Given the description of an element on the screen output the (x, y) to click on. 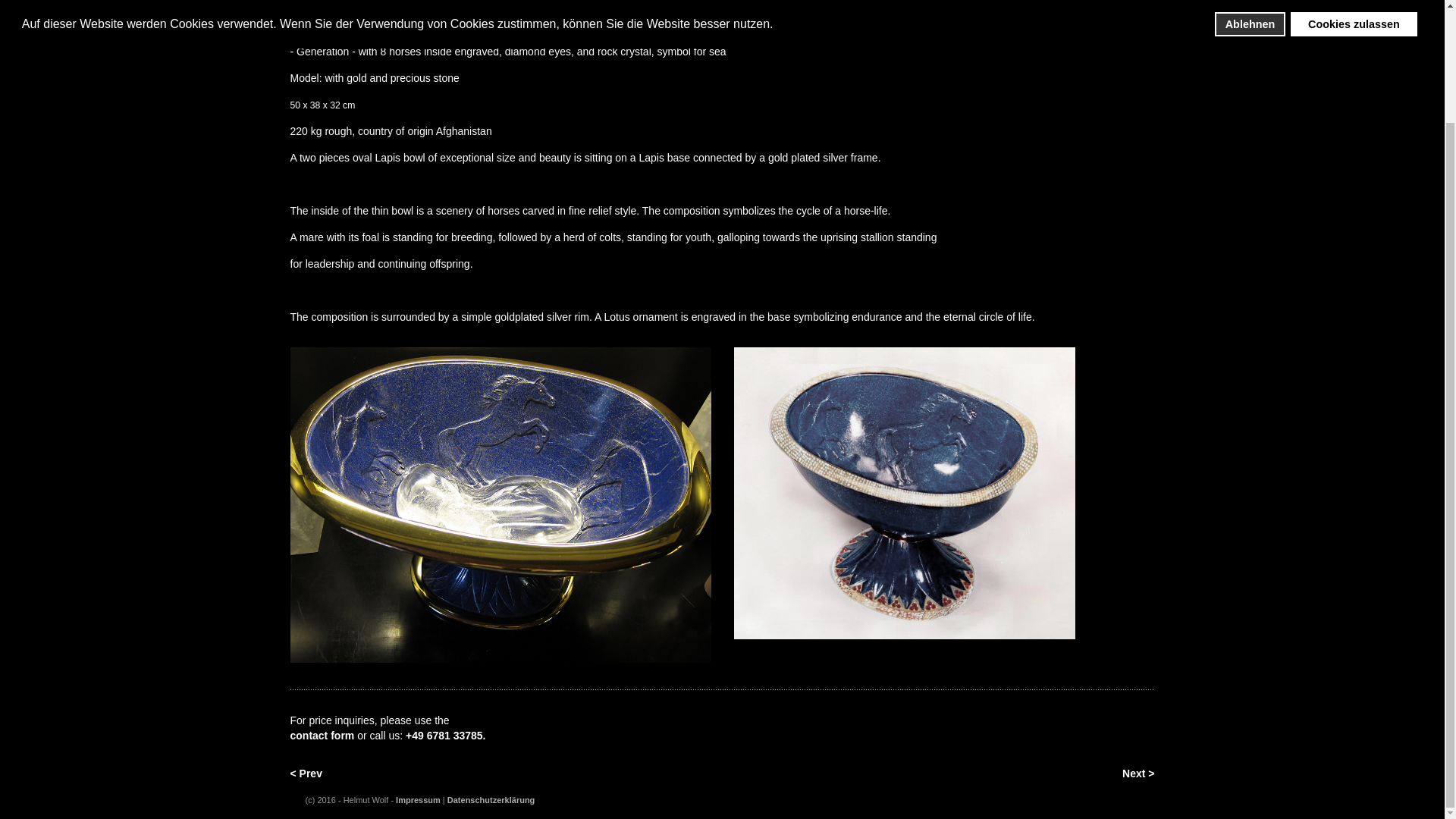
contact form (321, 735)
Impressum (418, 799)
